Given the description of an element on the screen output the (x, y) to click on. 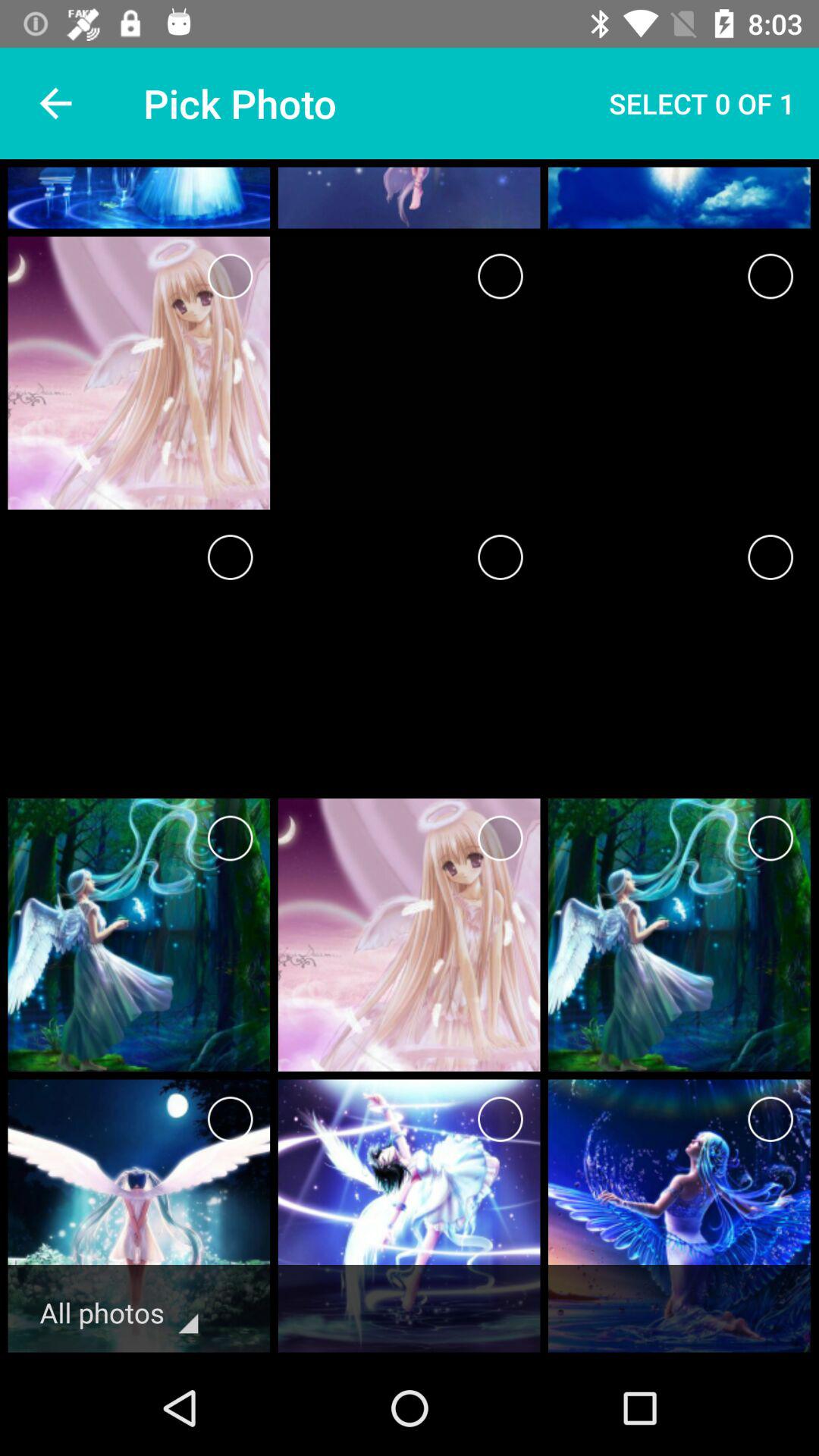
selection option (230, 838)
